Given the description of an element on the screen output the (x, y) to click on. 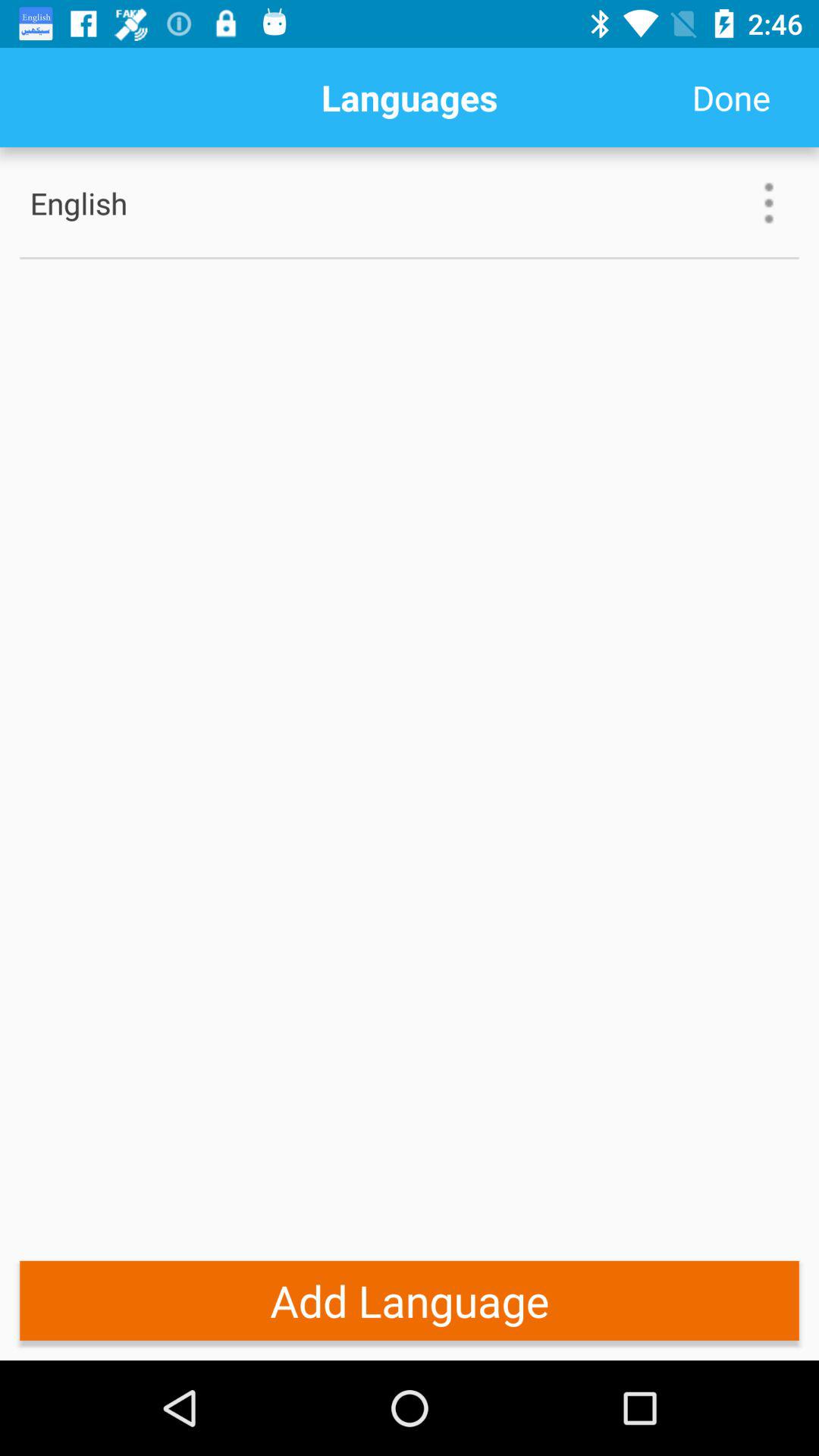
add more information (768, 202)
